Given the description of an element on the screen output the (x, y) to click on. 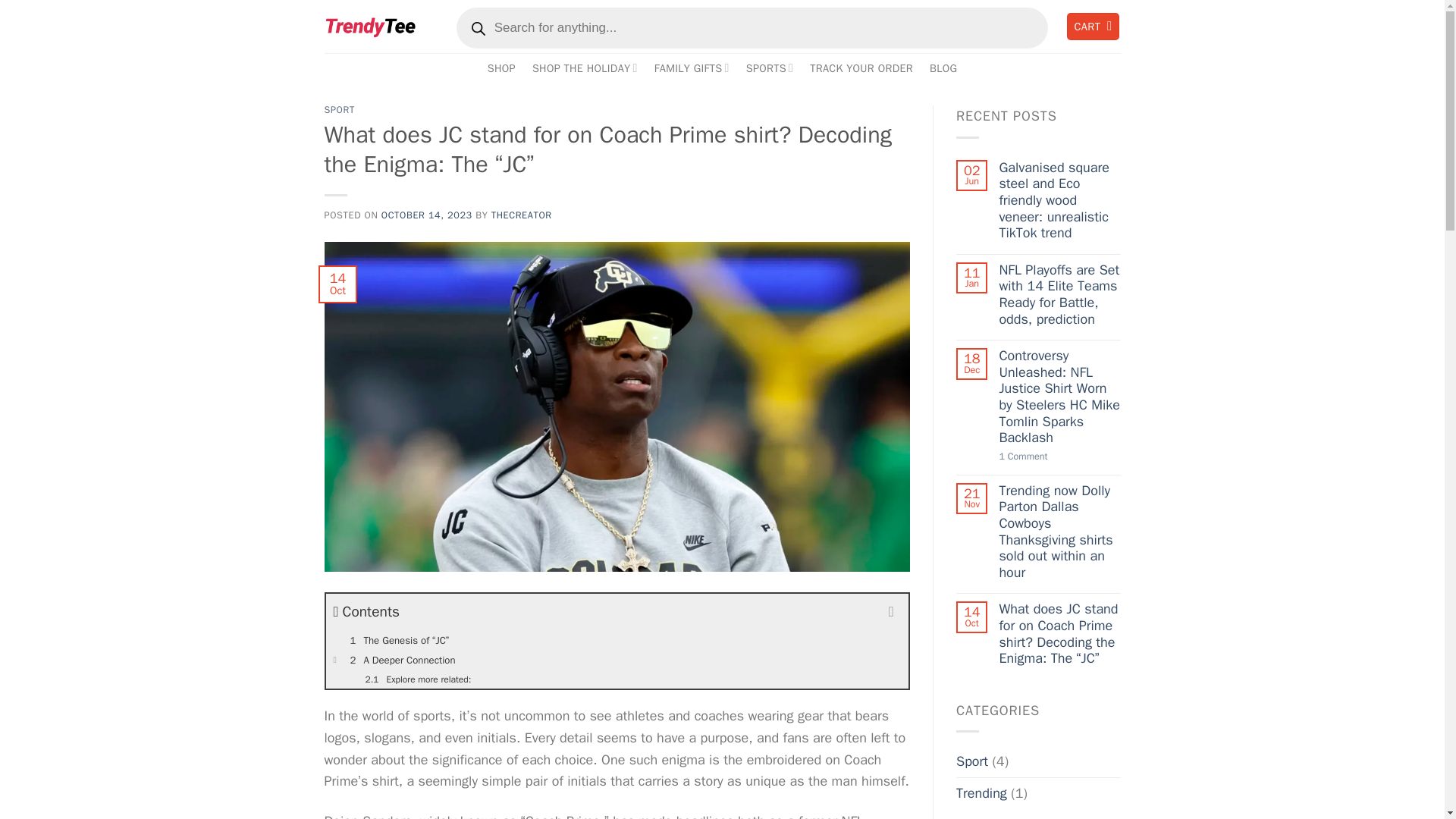
TheTrendyTee - TheTrendyTee (369, 26)
OCTOBER 14, 2023 (426, 215)
Cart (1092, 26)
FAMILY GIFTS (691, 67)
SHOP (501, 67)
Explore more related: (617, 679)
TRACK YOUR ORDER (860, 67)
CART (1092, 26)
